Given the description of an element on the screen output the (x, y) to click on. 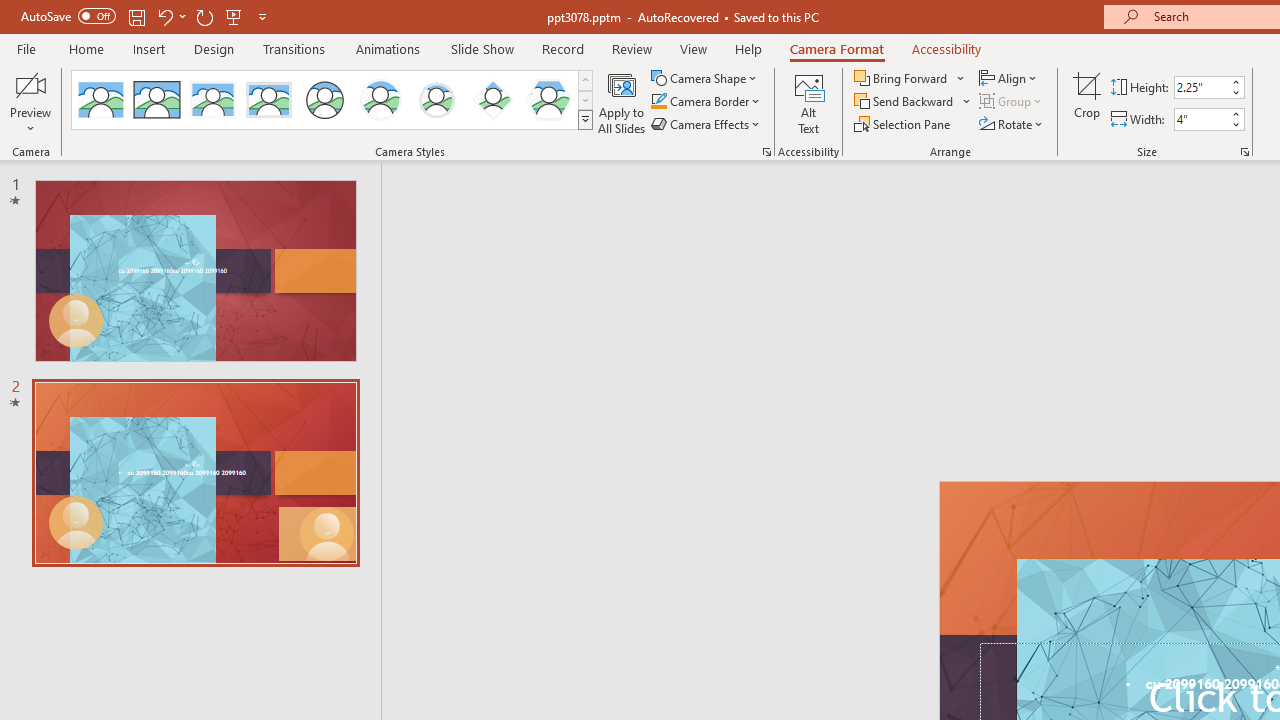
Enable Camera Preview (30, 84)
Apply to All Slides (621, 102)
Camera Effects (706, 124)
Center Shadow Diamond (492, 100)
Bring Forward (902, 78)
Camera Border Green, Accent 1 (658, 101)
Simple Frame Circle (324, 100)
Simple Frame Rectangle (157, 100)
